Given the description of an element on the screen output the (x, y) to click on. 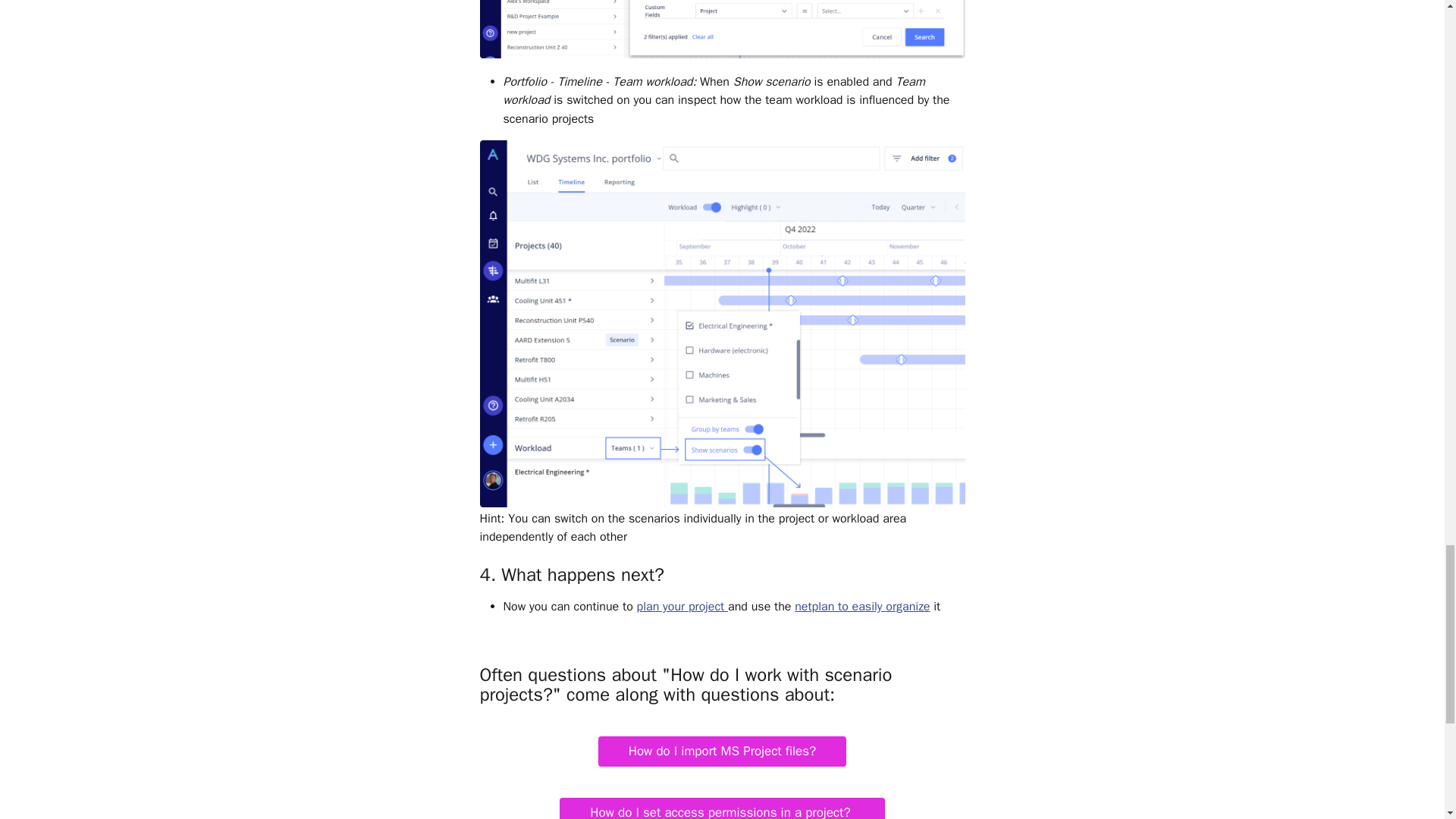
How do I import MS Project files? (722, 751)
netplan to easily organize (862, 606)
How do I set access permissions in a project? (721, 808)
plan your project (682, 606)
